Given the description of an element on the screen output the (x, y) to click on. 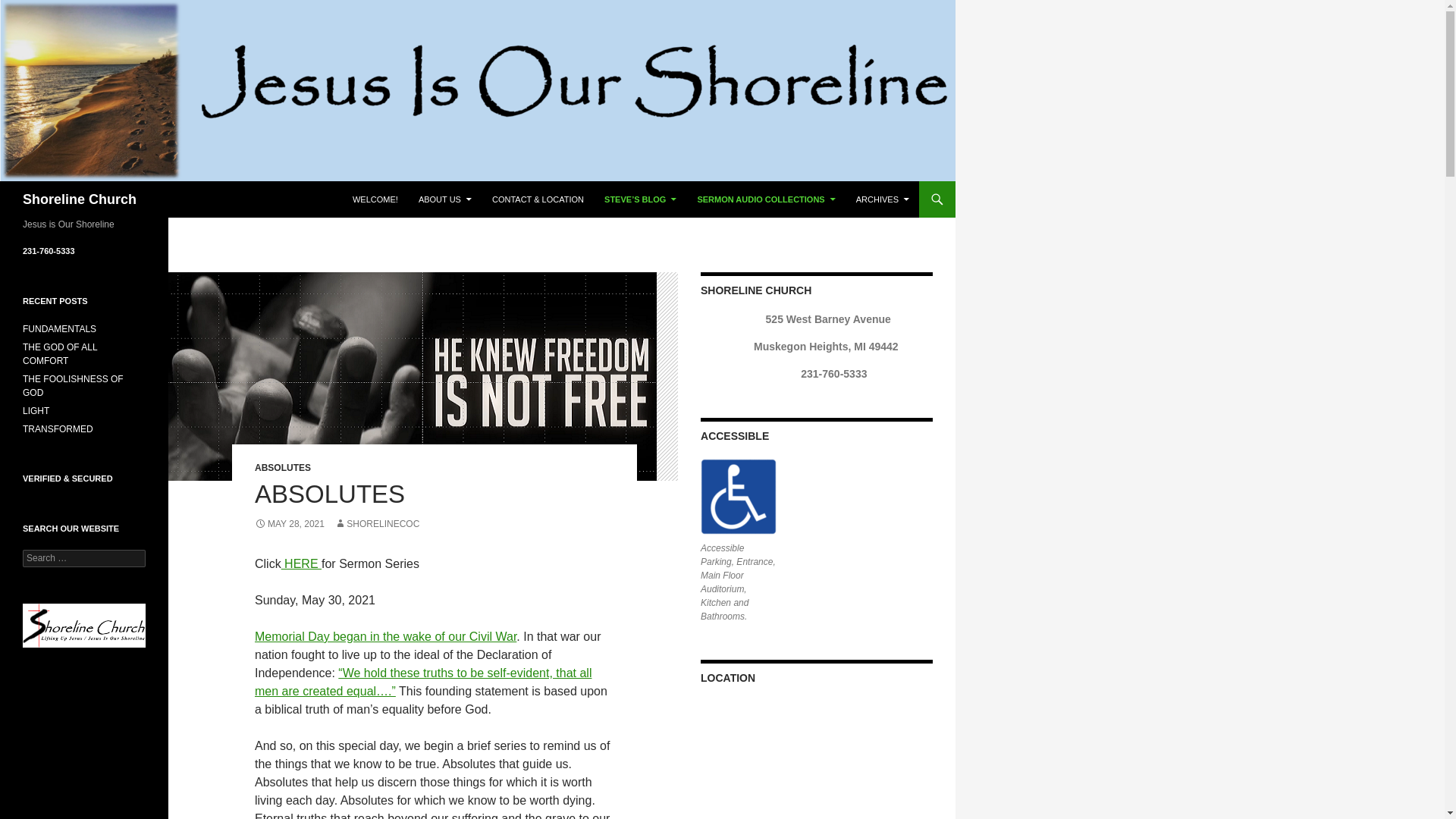
Shoreline Church (79, 198)
WELCOME! (375, 198)
ABOUT US (444, 198)
ACCESSIBLE (738, 496)
